Given the description of an element on the screen output the (x, y) to click on. 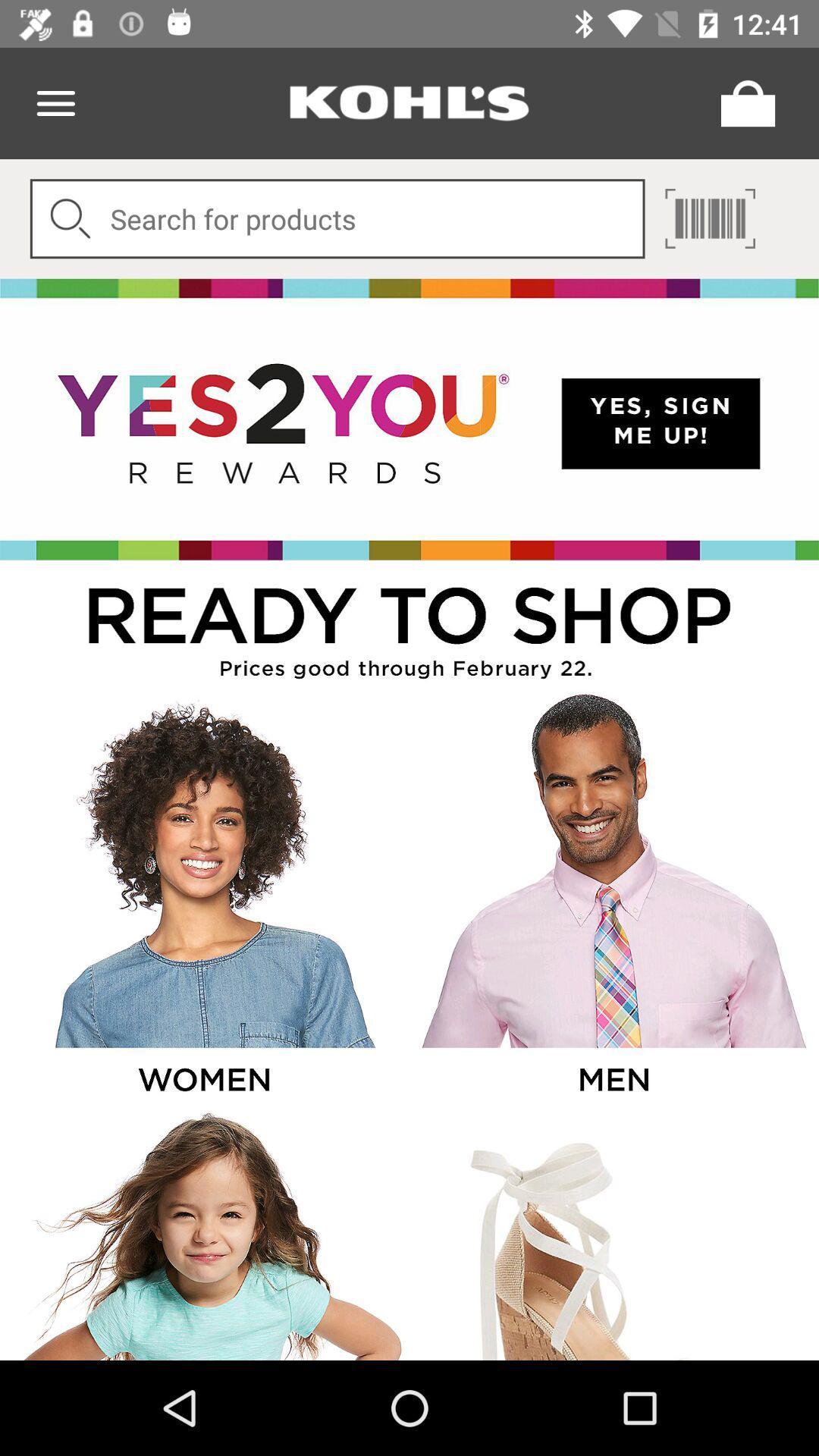
menu button (55, 103)
